Given the description of an element on the screen output the (x, y) to click on. 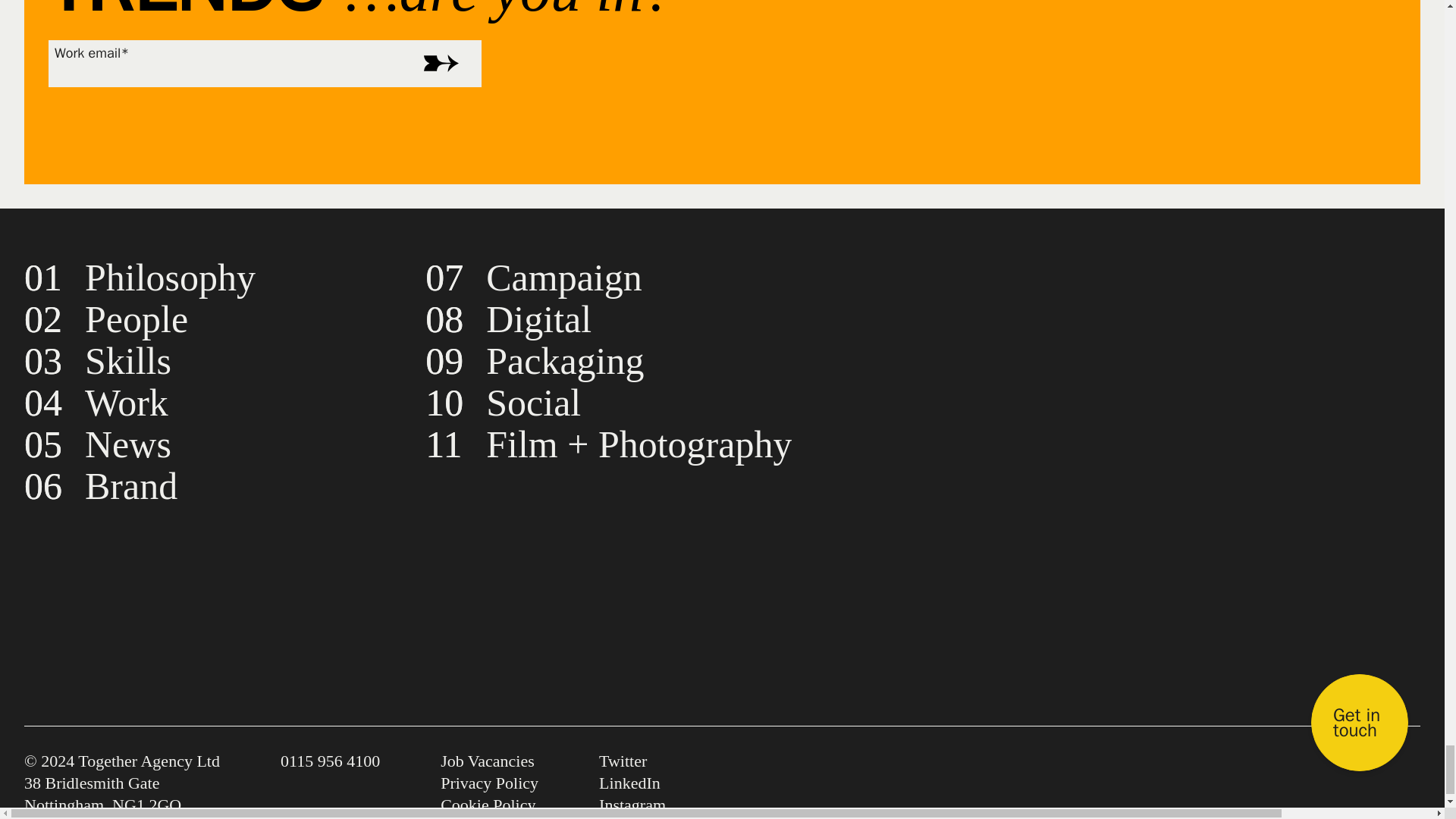
06Brand (100, 485)
01Philosophy (140, 277)
Submit (437, 63)
03Skills (97, 360)
Submit (437, 63)
09Packaging (534, 360)
05News (97, 444)
04Work (96, 402)
02People (105, 319)
08Digital (508, 319)
07Campaign (533, 277)
10Social (502, 402)
